Given the description of an element on the screen output the (x, y) to click on. 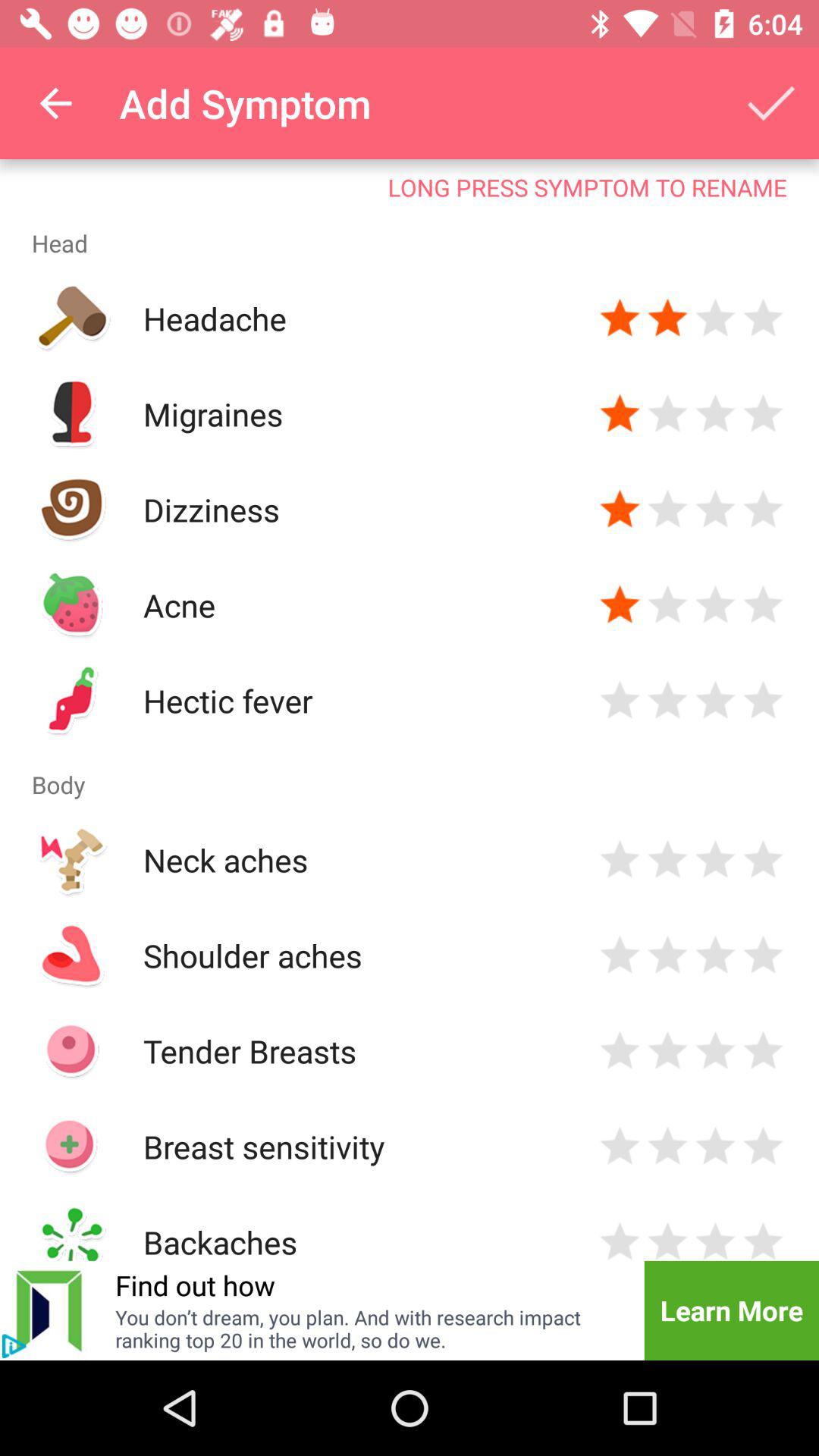
give symptom in the row four stars (763, 318)
